Given the description of an element on the screen output the (x, y) to click on. 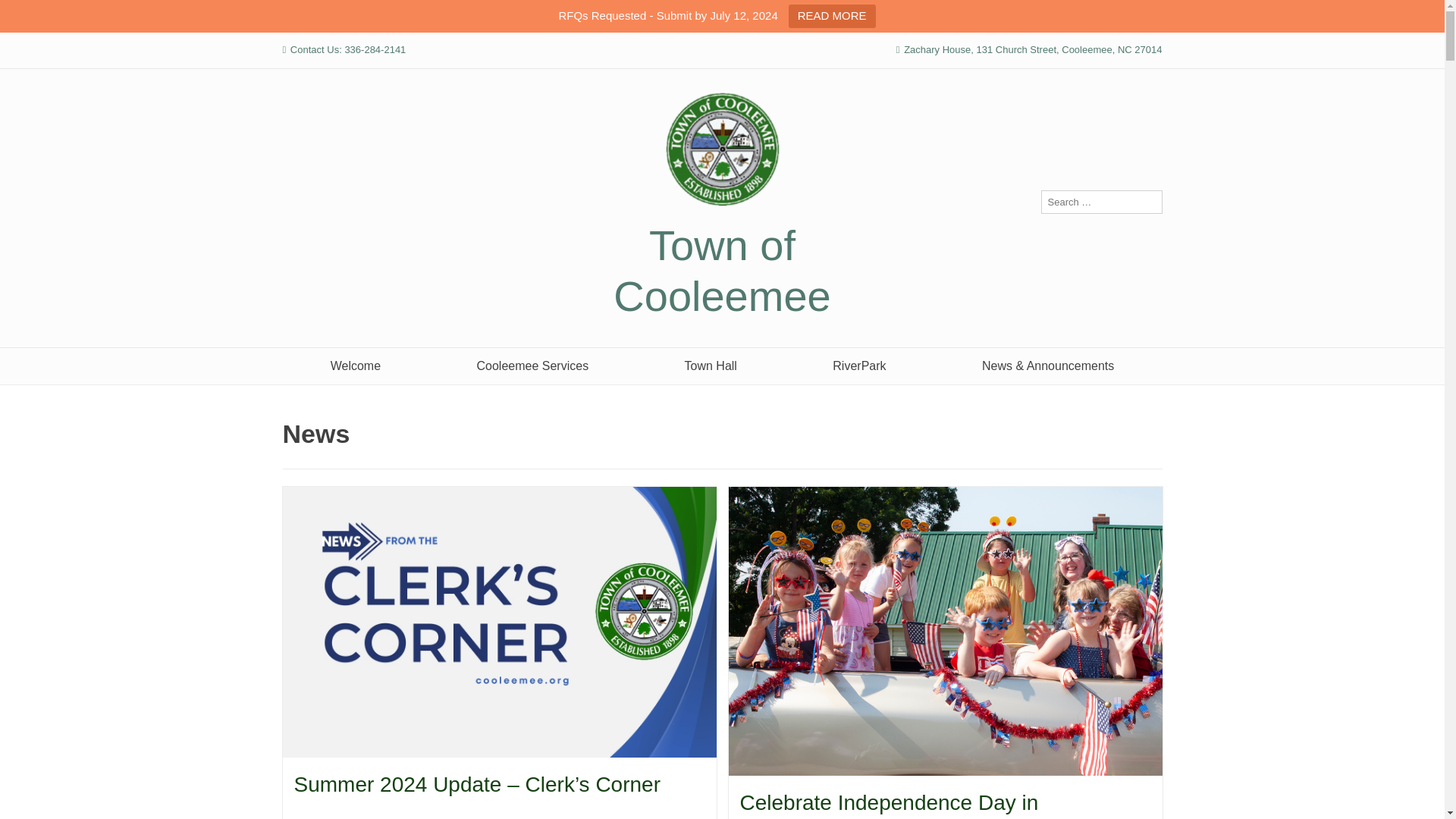
Cooleemee Services (532, 366)
RiverPark (859, 366)
Search (27, 13)
Town of Cooleemee (720, 270)
READ MORE (832, 15)
Welcome (355, 366)
Town Hall (710, 366)
